Given the description of an element on the screen output the (x, y) to click on. 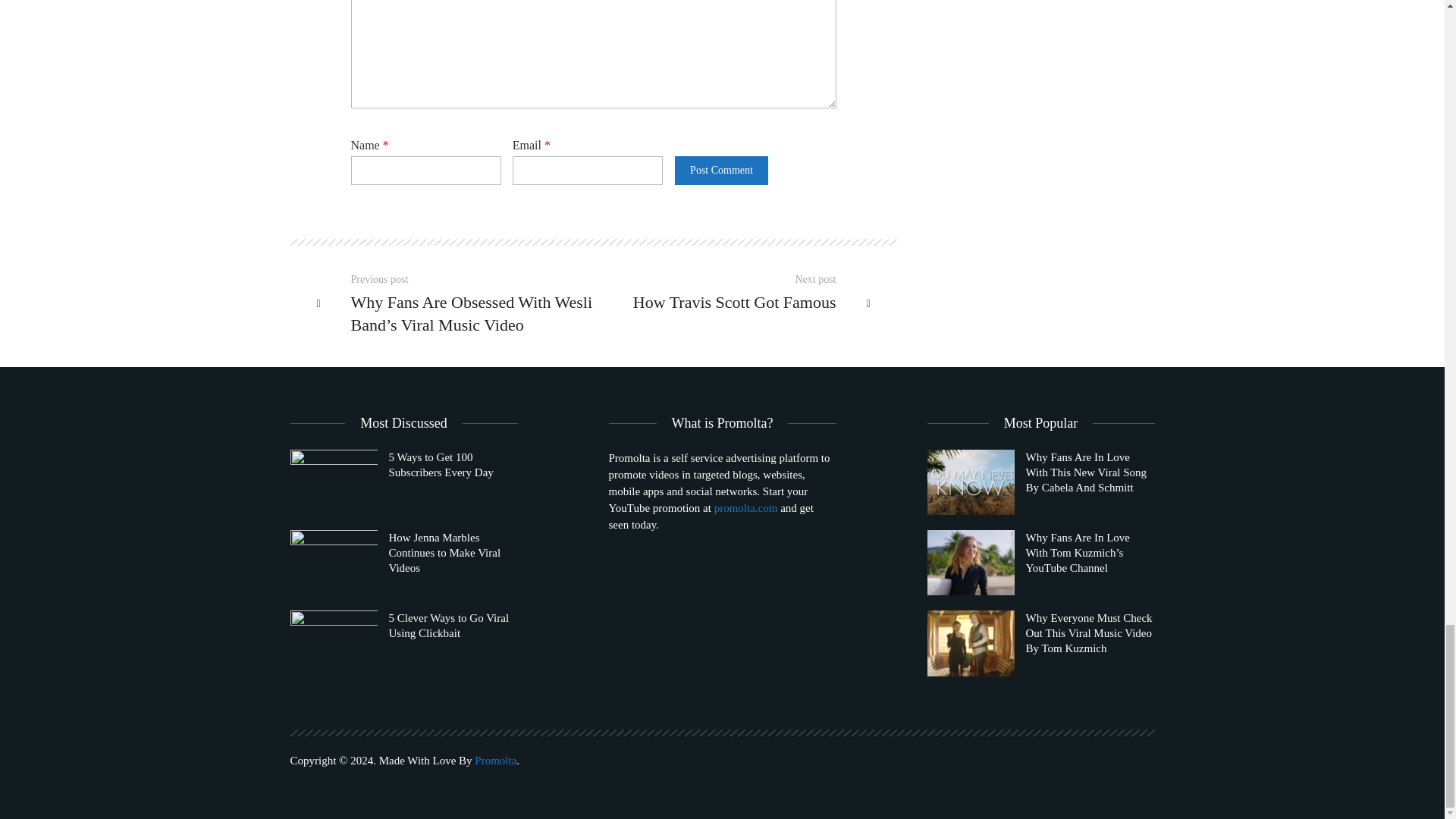
Post Comment (721, 170)
5 Ways to Get 100 Subscribers Every Day (402, 482)
5 Ways to Get 100 Subscribers Every Day (333, 482)
promolta.com (745, 508)
How Travis Scott Got Famous (722, 302)
5 Clever Ways to Go Viral Using Clickbait (402, 642)
How Jenna Marbles Continues to Make Viral Videos (402, 562)
Post Comment (721, 170)
